Given the description of an element on the screen output the (x, y) to click on. 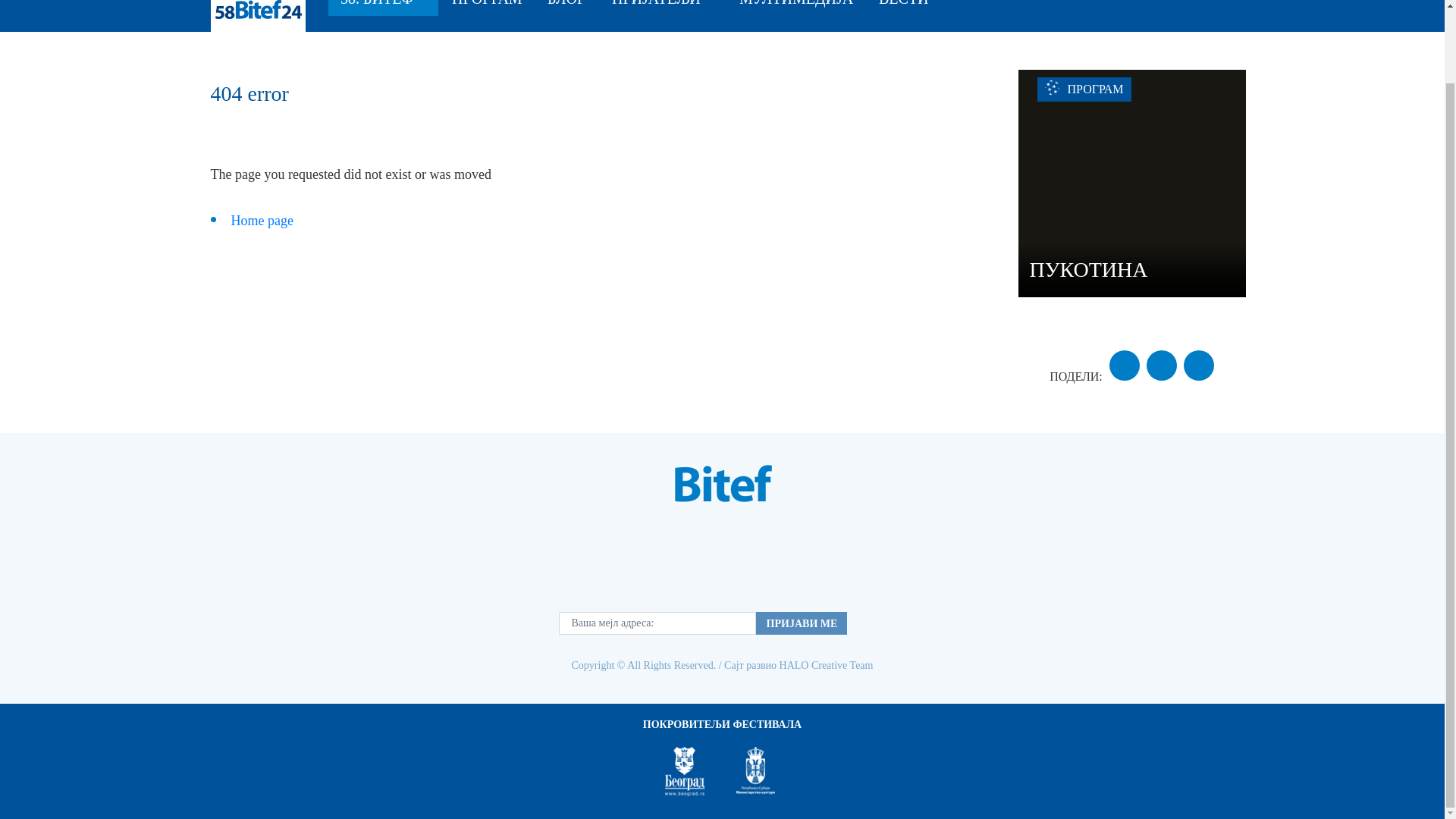
Home page (261, 220)
